Given the description of an element on the screen output the (x, y) to click on. 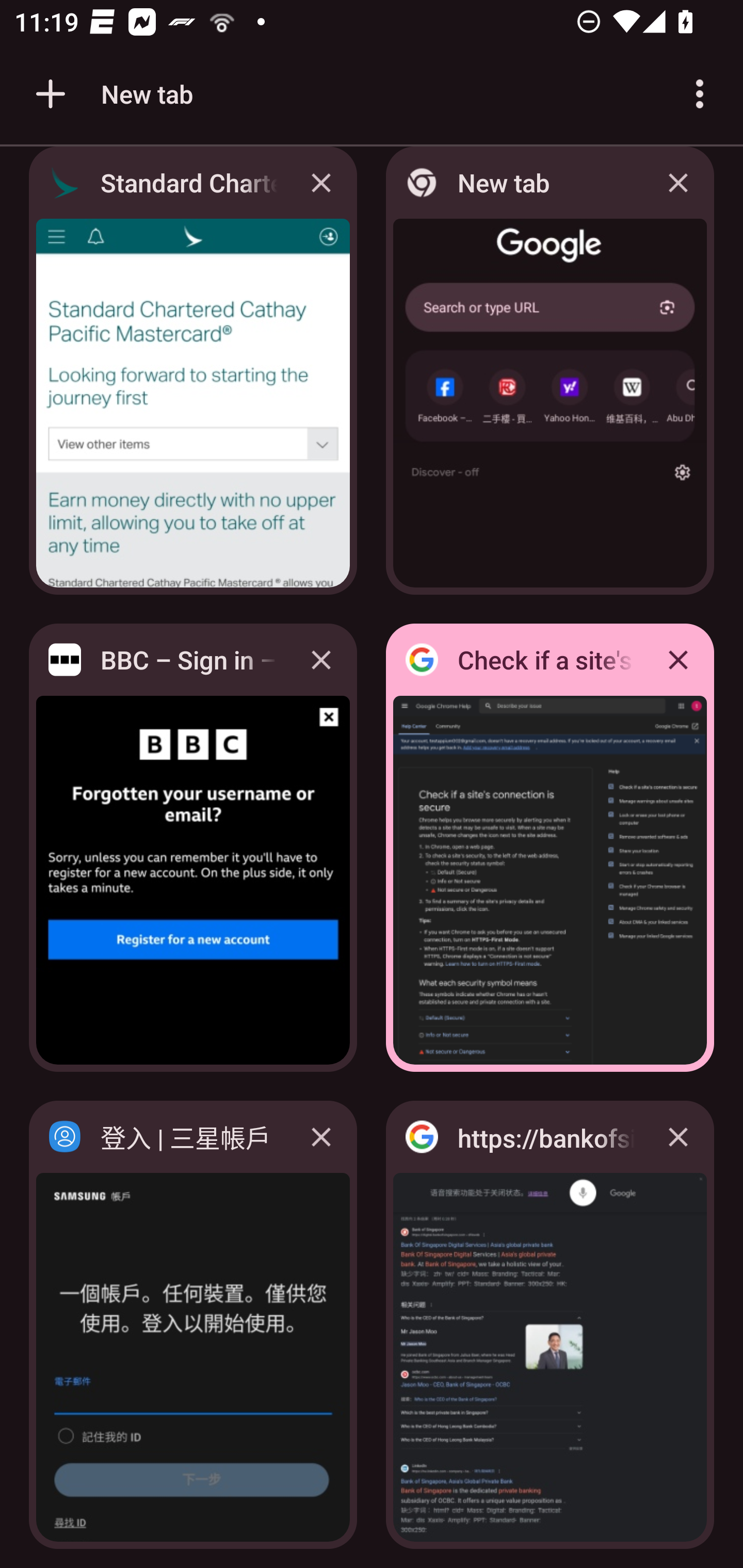
New tab (111, 93)
Customize and control Google Chrome (699, 93)
New tab New tab, tab Close New tab tab (549, 376)
Close New tab tab (677, 184)
登入 | 三星帳戶 登入 | 三星帳戶, tab Close 登入 | 三星帳戶 tab (192, 1324)
Close 登入 | 三星帳戶 tab (320, 1136)
